Given the description of an element on the screen output the (x, y) to click on. 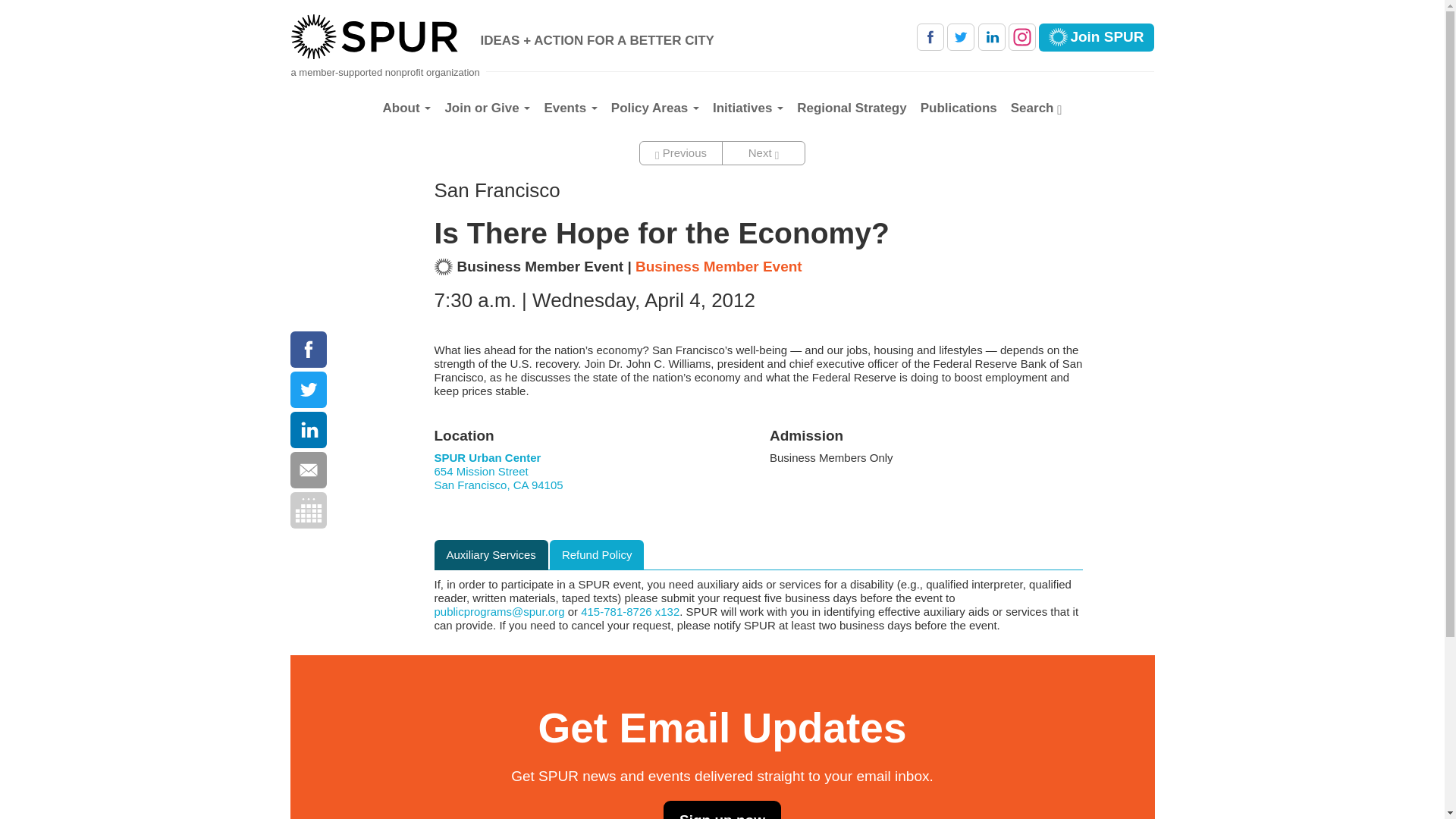
Individual Membership (1096, 37)
Home (379, 36)
 Join SPUR (1096, 37)
Share on Facebook (307, 349)
About (410, 108)
Share on Twitter (307, 389)
Policy Areas (655, 108)
Events (570, 108)
Join or Give (487, 108)
Follow SPUR on Instagram (1022, 36)
Follow SPUR on Twitter (960, 36)
